Given the description of an element on the screen output the (x, y) to click on. 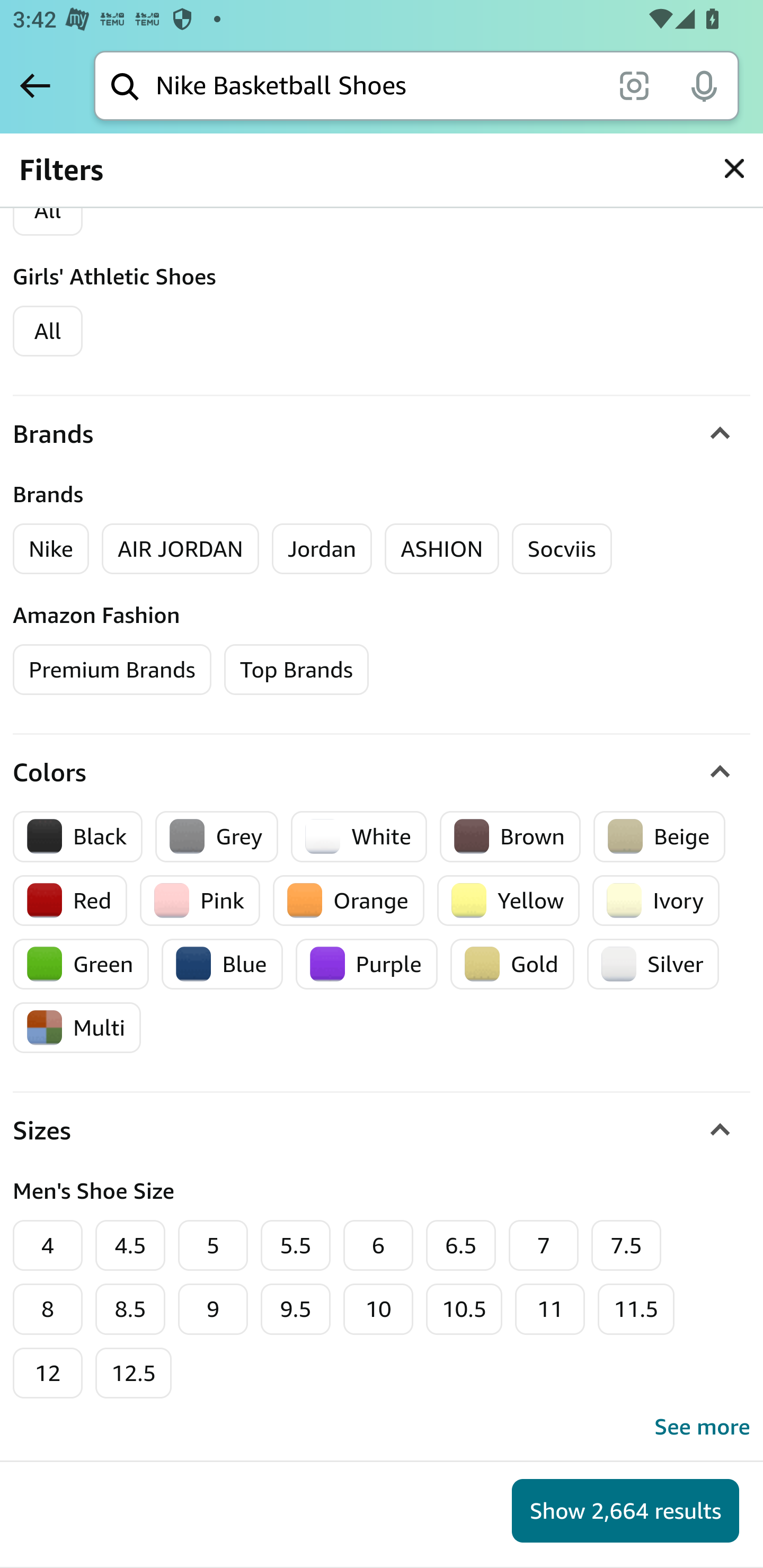
Back (35, 85)
scan it (633, 85)
All (47, 210)
All (47, 331)
Brands (381, 434)
Nike (51, 548)
AIR JORDAN (180, 548)
Jordan (321, 548)
ASHION (441, 548)
Socviis (560, 548)
Premium Brands (111, 669)
Top Brands (295, 669)
Colors (381, 772)
Black Black Black Black (77, 836)
Grey Grey Grey Grey (217, 836)
White White White White (358, 836)
Brown Brown Brown Brown (509, 836)
